Given the description of an element on the screen output the (x, y) to click on. 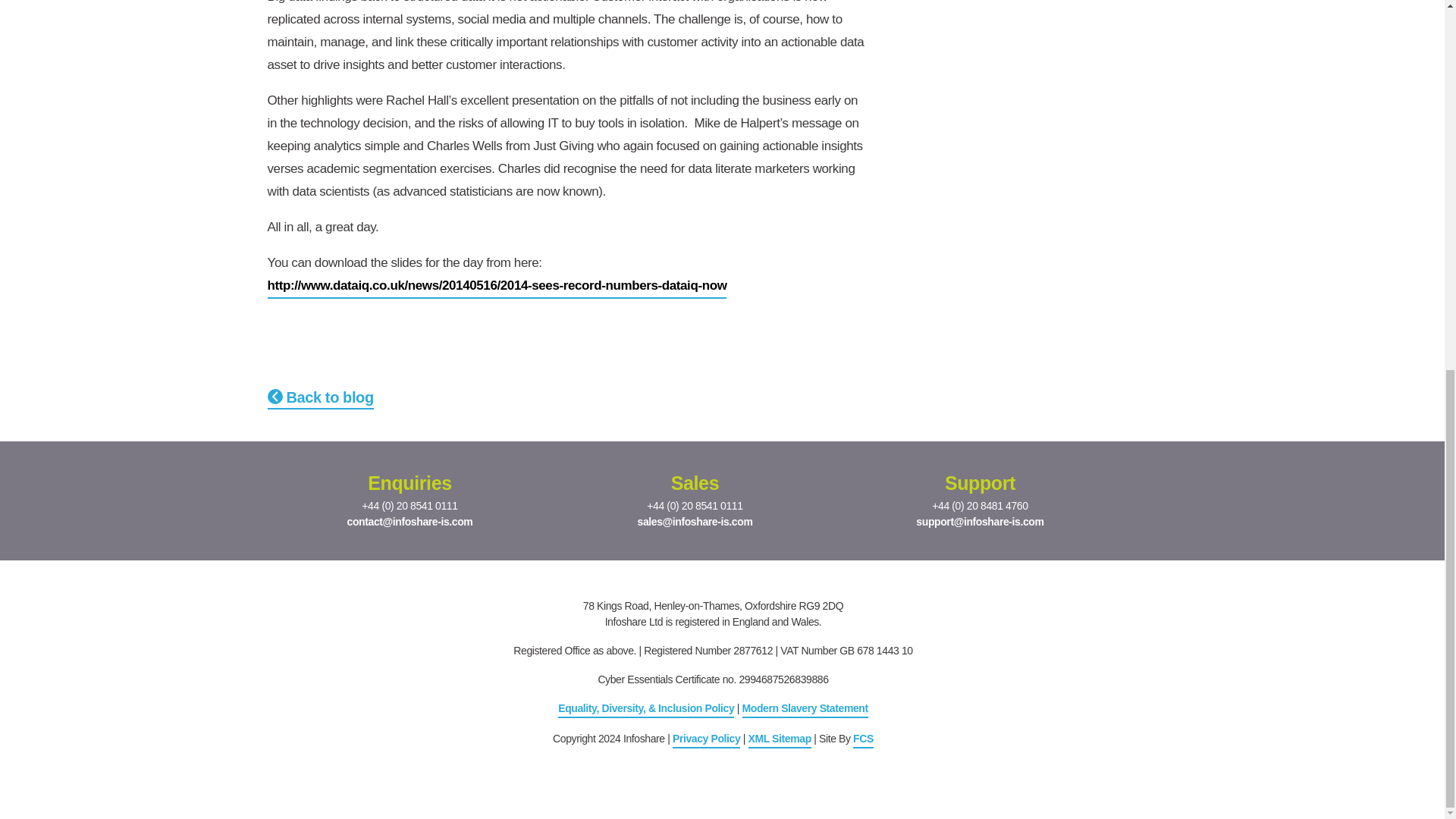
web design nottingham (863, 739)
Back to blog (319, 398)
